Given the description of an element on the screen output the (x, y) to click on. 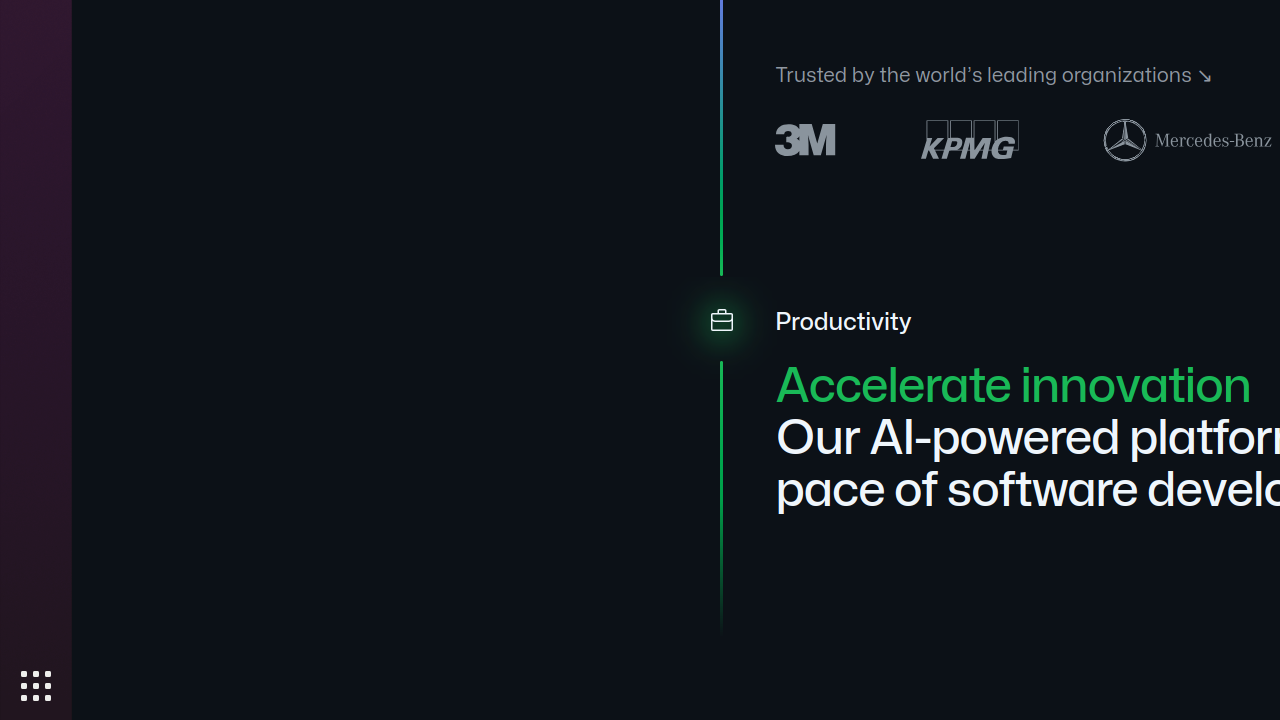
Show Applications Element type: toggle-button (36, 686)
